Given the description of an element on the screen output the (x, y) to click on. 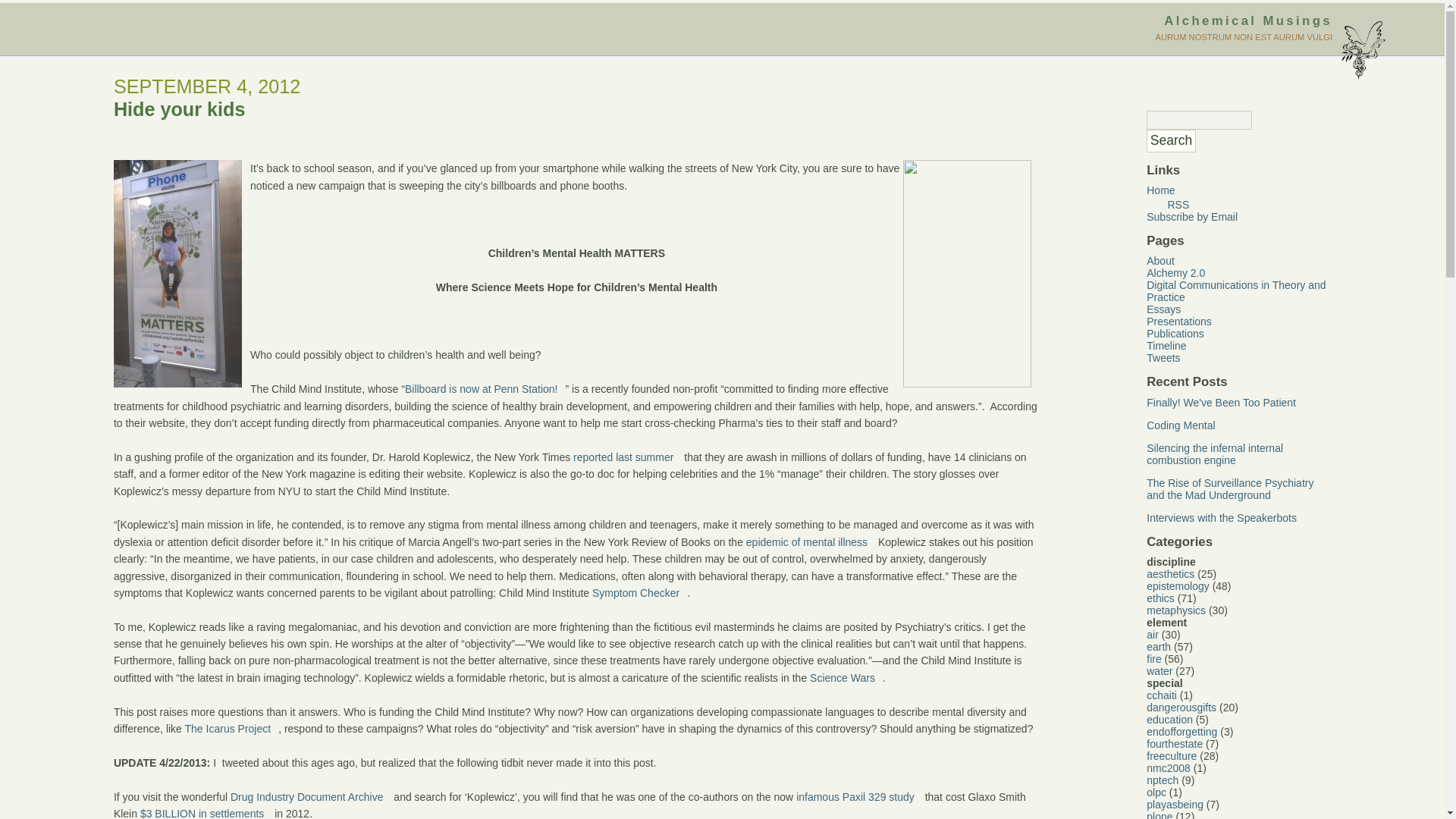
Billboard is now at Penn Station! (485, 388)
reported last summer (627, 457)
Alchemy 2.0 (1176, 272)
Silencing the infernal internal combustion engine (1214, 454)
Home (1160, 190)
Symptom Checker (639, 592)
Alchemical Musings (1247, 20)
Search (1171, 140)
Timeline (1166, 345)
Subscribe by Email (1192, 216)
